Given the description of an element on the screen output the (x, y) to click on. 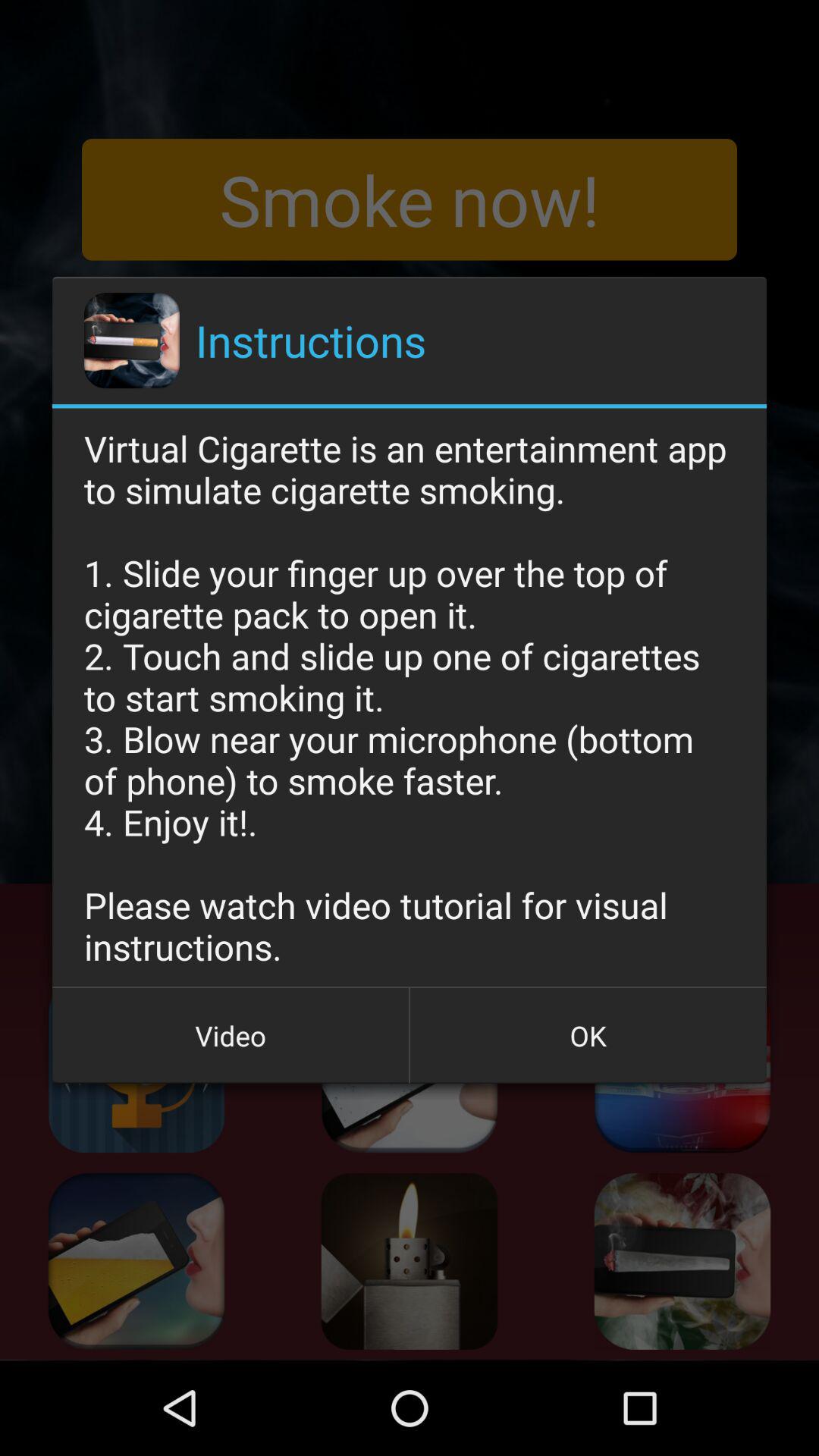
launch item below virtual cigarette is icon (588, 1035)
